Given the description of an element on the screen output the (x, y) to click on. 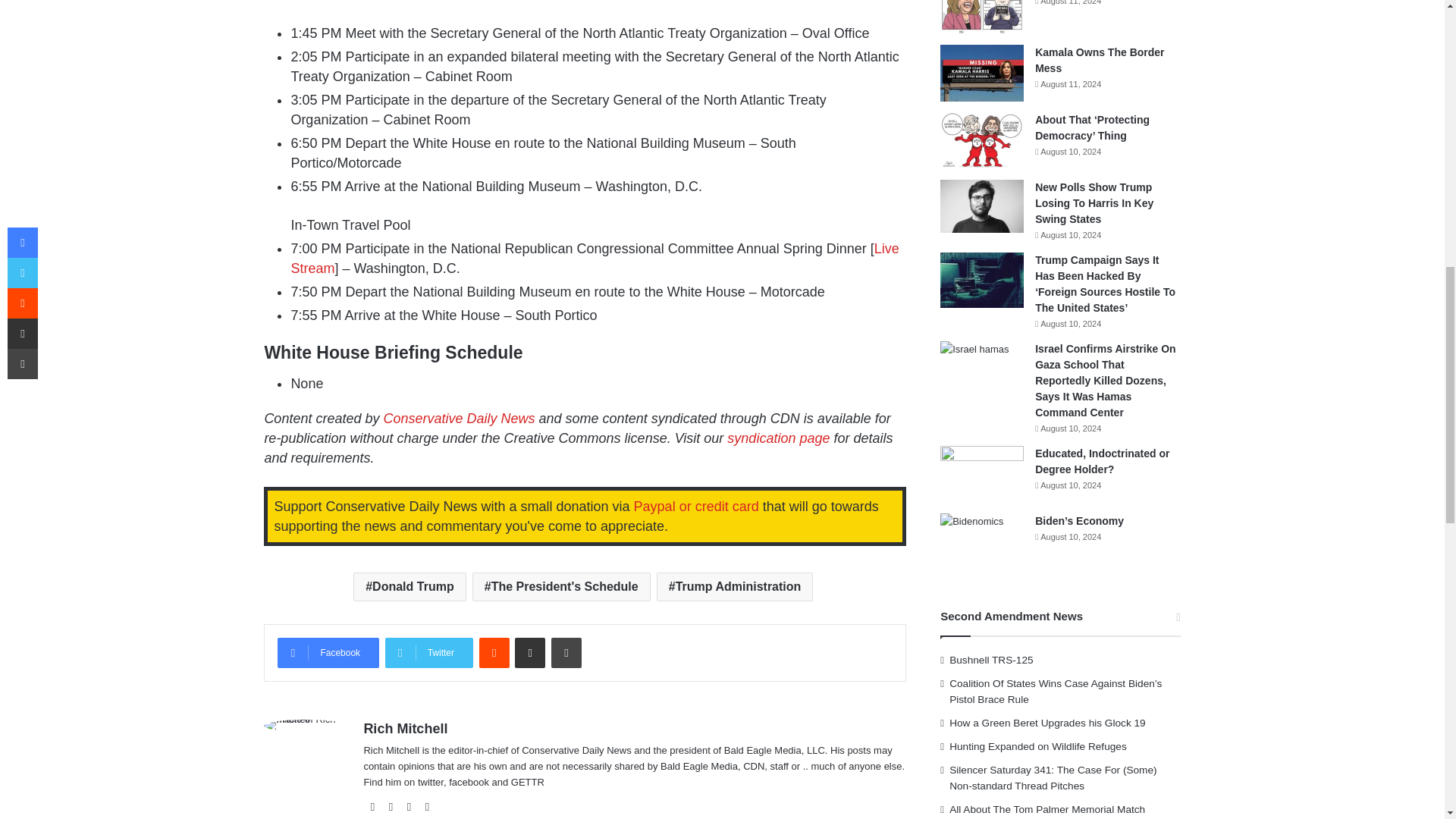
Share via Email (529, 653)
Twitter (429, 653)
Reddit (494, 653)
Facebook (328, 653)
